Given the description of an element on the screen output the (x, y) to click on. 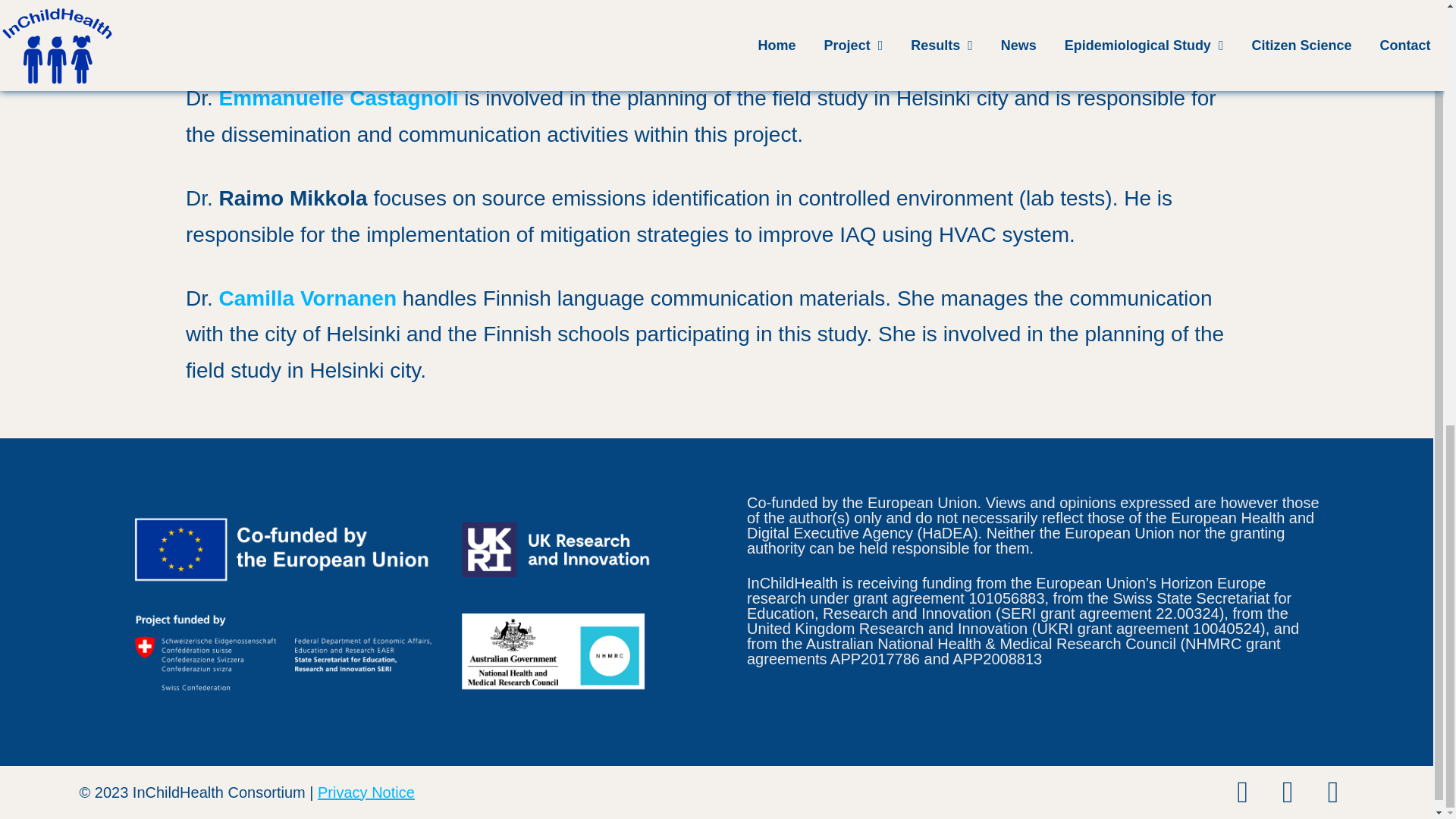
Privacy Notice (365, 791)
Emmanuelle Castagnoli (338, 97)
Camilla Vornanen (311, 298)
Tuija Heikura (251, 4)
